Given the description of an element on the screen output the (x, y) to click on. 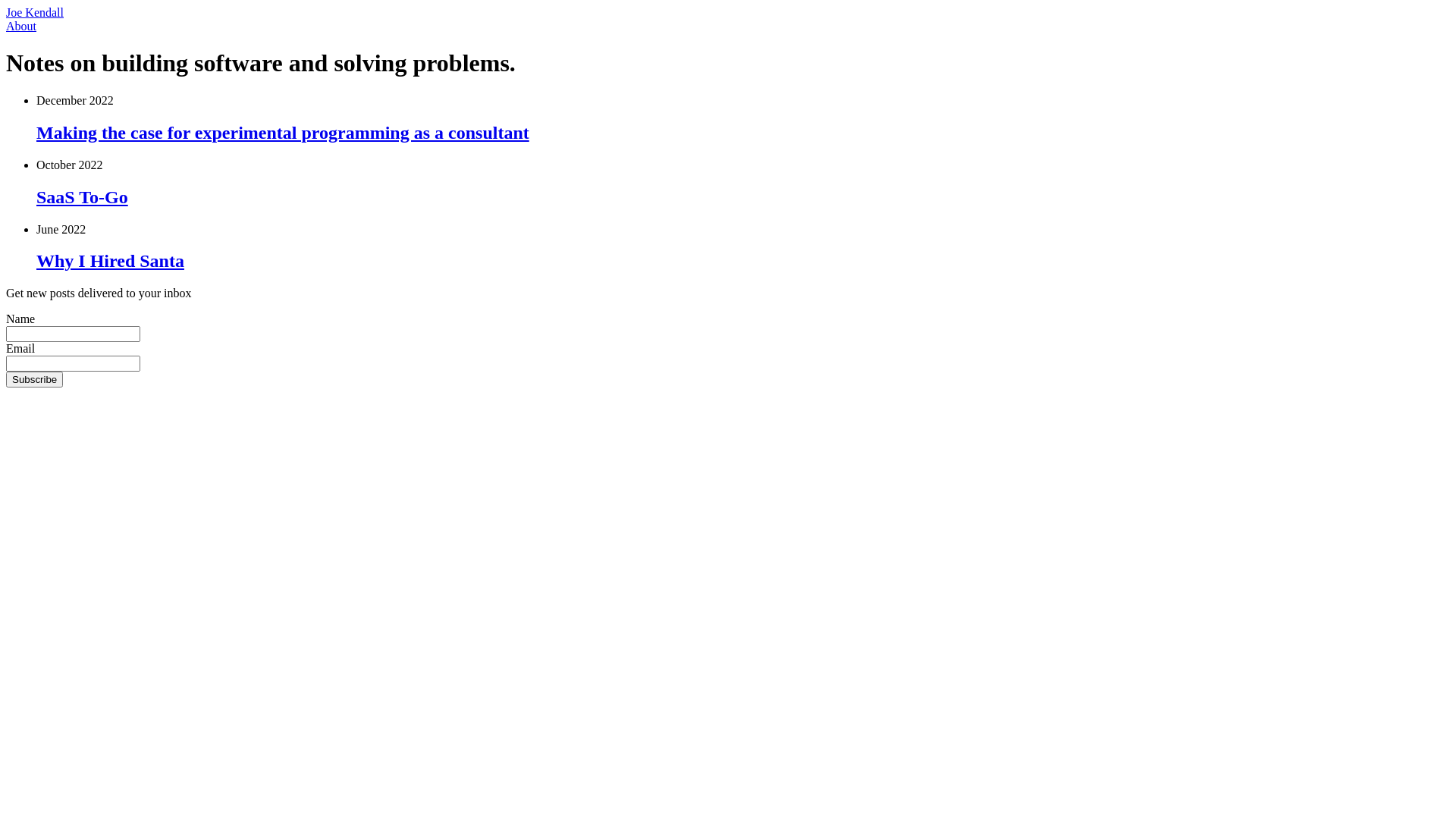
About Element type: text (21, 25)
Making the case for experimental programming as a consultant Element type: text (282, 132)
Joe Kendall Element type: text (34, 12)
SaaS To-Go Element type: text (82, 197)
Subscribe Element type: text (34, 379)
Why I Hired Santa Element type: text (110, 260)
